Given the description of an element on the screen output the (x, y) to click on. 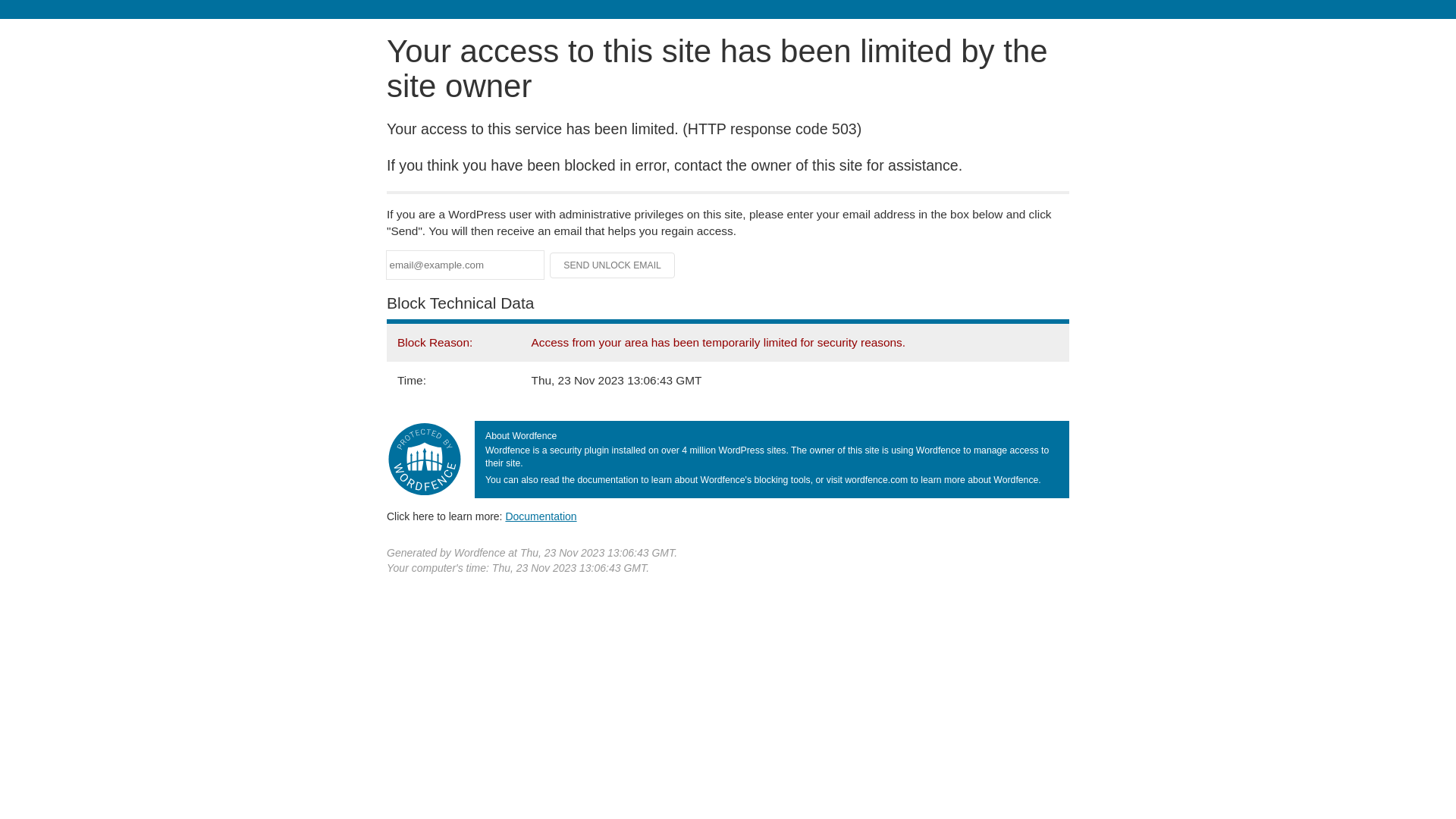
Documentation Element type: text (540, 516)
Send Unlock Email Element type: text (612, 265)
